Given the description of an element on the screen output the (x, y) to click on. 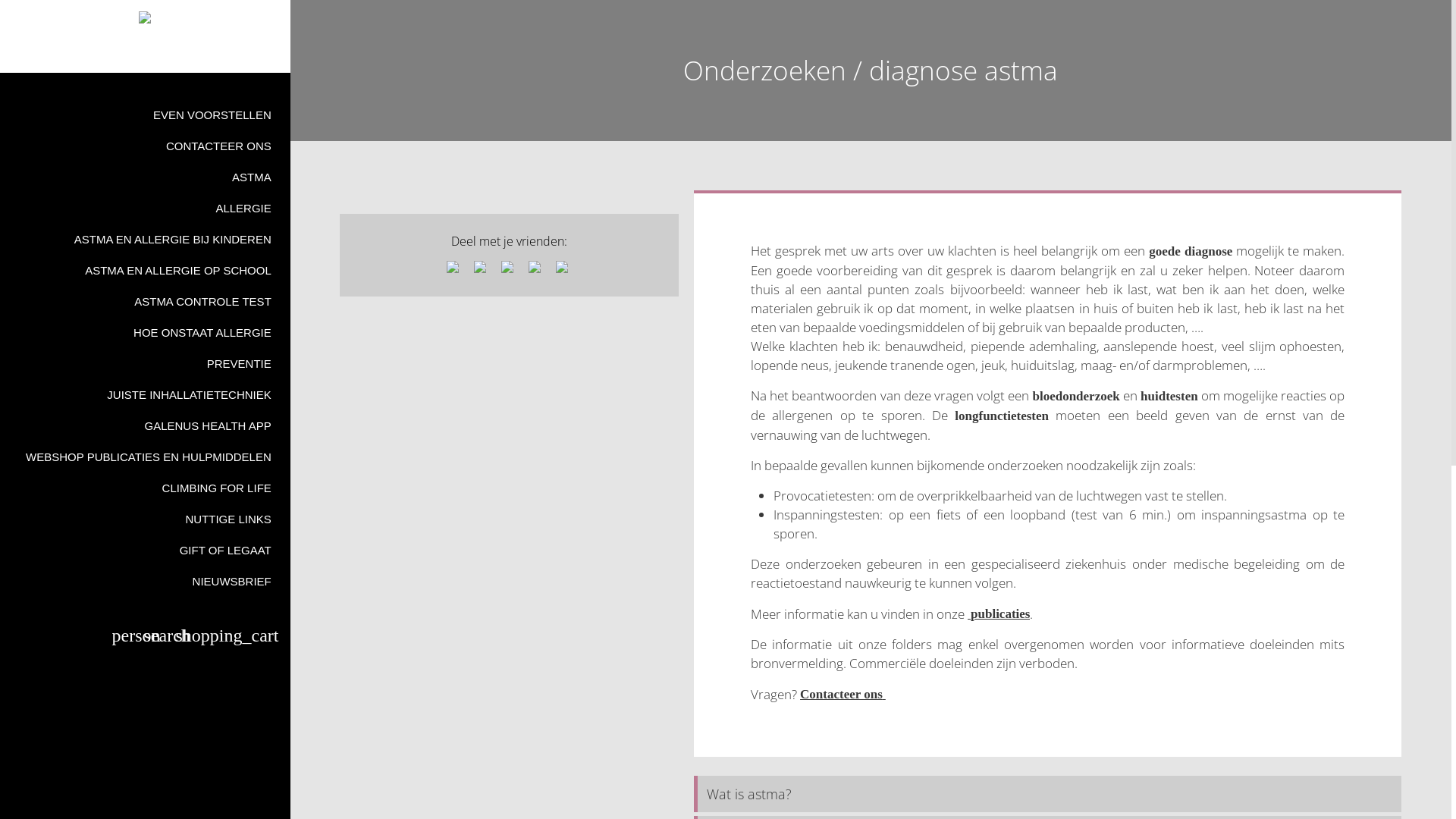
Share via mail Element type: hover (536, 268)
ASTMA CONTROLE TEST Element type: text (145, 300)
Astma en Allergiekoepel vzw Element type: hover (145, 17)
person Element type: text (123, 637)
WEBSHOP PUBLICATIES EN HULPMIDDELEN Element type: text (145, 456)
shopping_cart Element type: text (228, 637)
ALLERGIE Element type: text (145, 207)
ASTMA Element type: text (145, 176)
CONTACTEER ONS Element type: text (145, 145)
HOE ONSTAAT ALLERGIE Element type: text (145, 332)
Share via facebook Element type: hover (454, 268)
Contacteer ons  Element type: text (842, 693)
ASTMA EN ALLERGIE OP SCHOOL Element type: text (145, 269)
GALENUS HEALTH APP Element type: text (145, 425)
 publicaties Element type: text (998, 613)
PREVENTIE Element type: text (145, 363)
EVEN VOORSTELLEN Element type: text (145, 114)
ASTMA EN ALLERGIE BIJ KINDEREN Element type: text (145, 238)
NIEUWSBRIEF Element type: text (145, 580)
CLIMBING FOR LIFE Element type: text (145, 487)
Wat is astma? Element type: text (1047, 793)
search Element type: text (155, 637)
Astma en Allergiekoepel vzw Facebook Element type: hover (144, 53)
GIFT OF LEGAAT Element type: text (145, 549)
Share via X Element type: hover (481, 268)
NUTTIGE LINKS Element type: text (145, 518)
Share via linkedin Element type: hover (509, 268)
JUISTE INHALLATIETECHNIEK Element type: text (145, 394)
Share via whatsapp Element type: hover (563, 268)
